Given the description of an element on the screen output the (x, y) to click on. 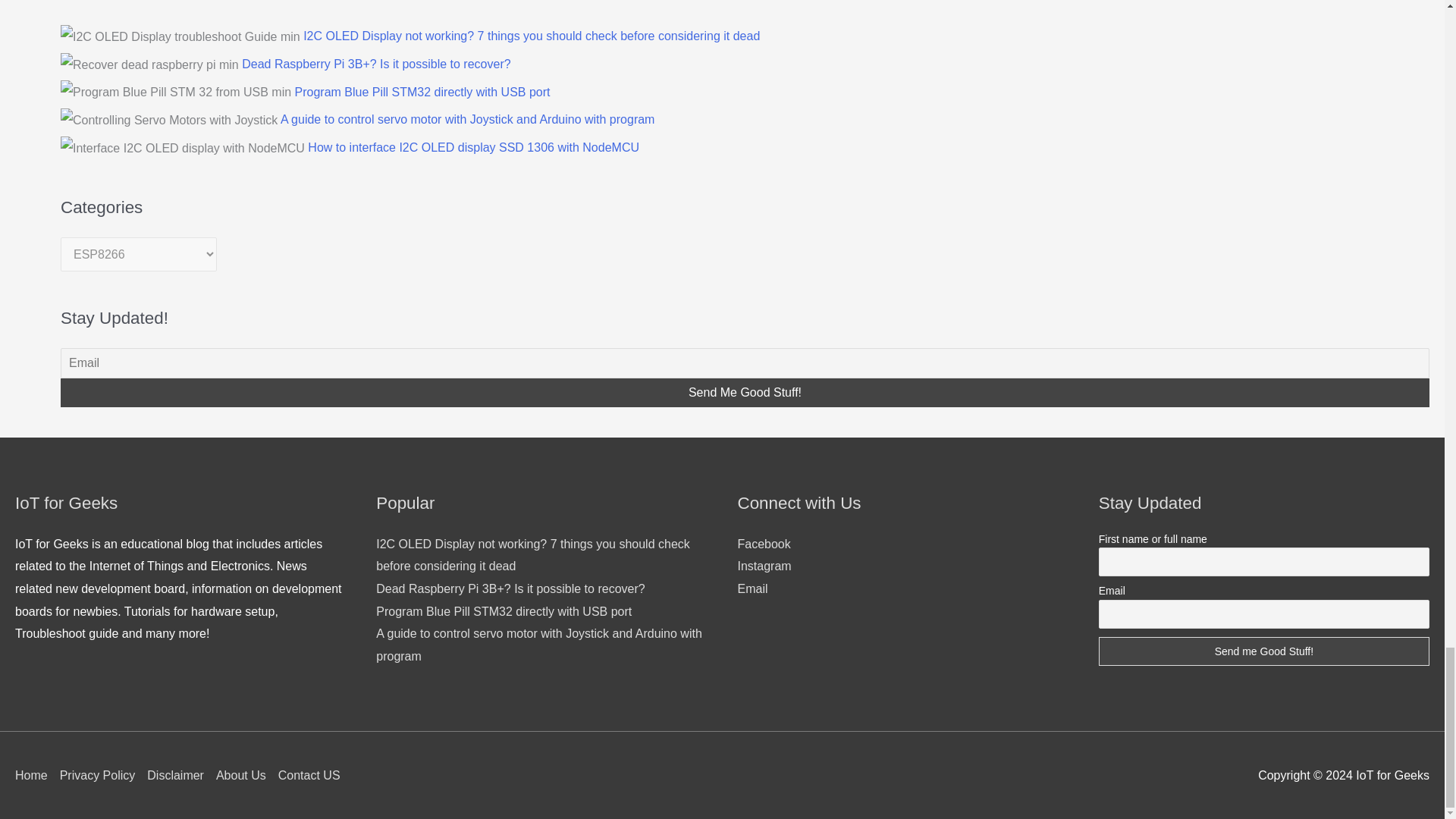
Send Me Good Stuff! (745, 392)
Send me Good Stuff! (1264, 651)
